Given the description of an element on the screen output the (x, y) to click on. 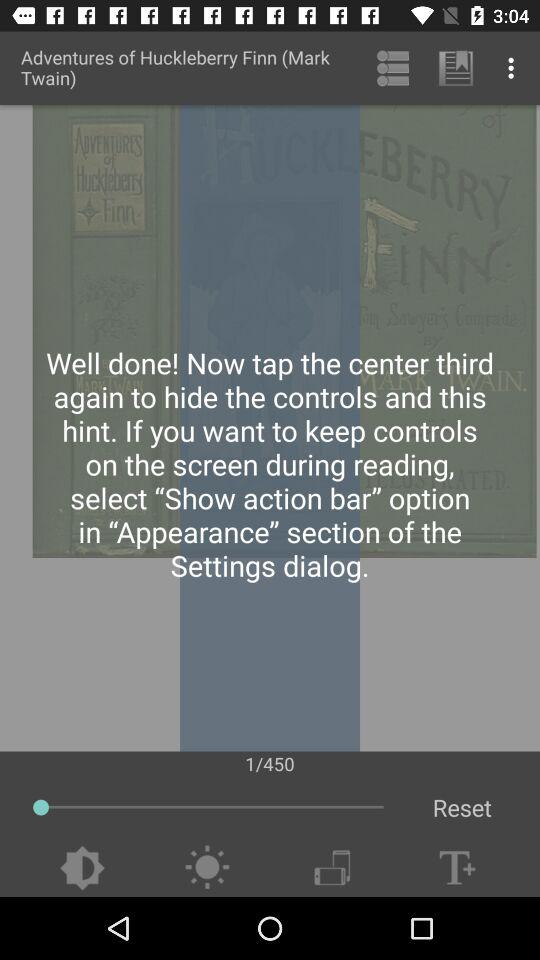
increase text size (457, 867)
